Given the description of an element on the screen output the (x, y) to click on. 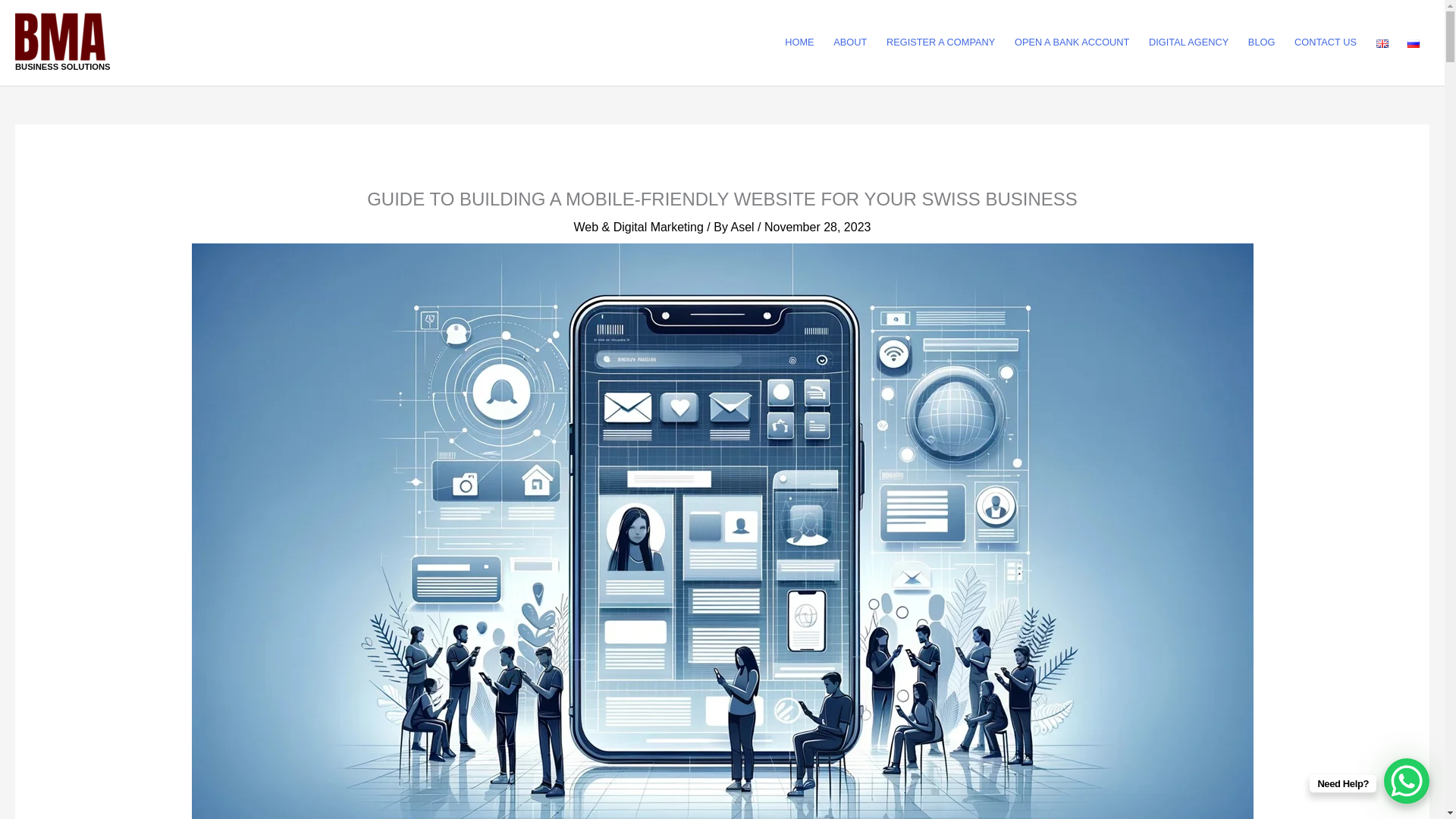
HOME (799, 41)
OPEN A BANK ACCOUNT (1071, 41)
Register a Company (940, 41)
ABOUT (850, 41)
Home (799, 41)
Open a Bank Account (1071, 41)
CONTACT US (1325, 41)
DIGITAL AGENCY (1188, 41)
Contact Us (1325, 41)
About (850, 41)
